Given the description of an element on the screen output the (x, y) to click on. 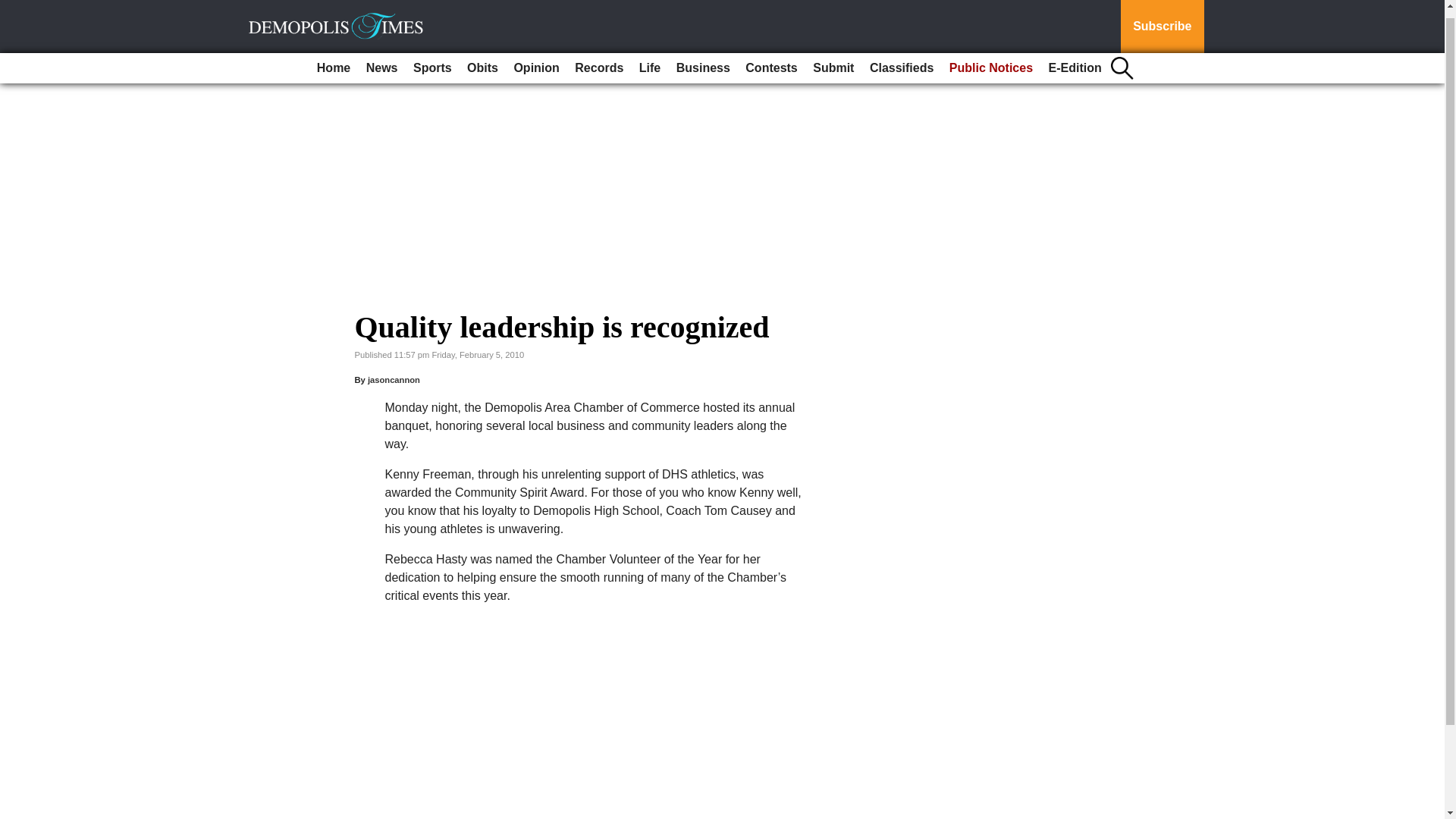
jasoncannon (394, 379)
Public Notices (991, 60)
Subscribe (1162, 22)
Records (598, 60)
Obits (482, 60)
Contests (771, 60)
Opinion (535, 60)
Classifieds (901, 60)
Go (13, 4)
Home (333, 60)
